Given the description of an element on the screen output the (x, y) to click on. 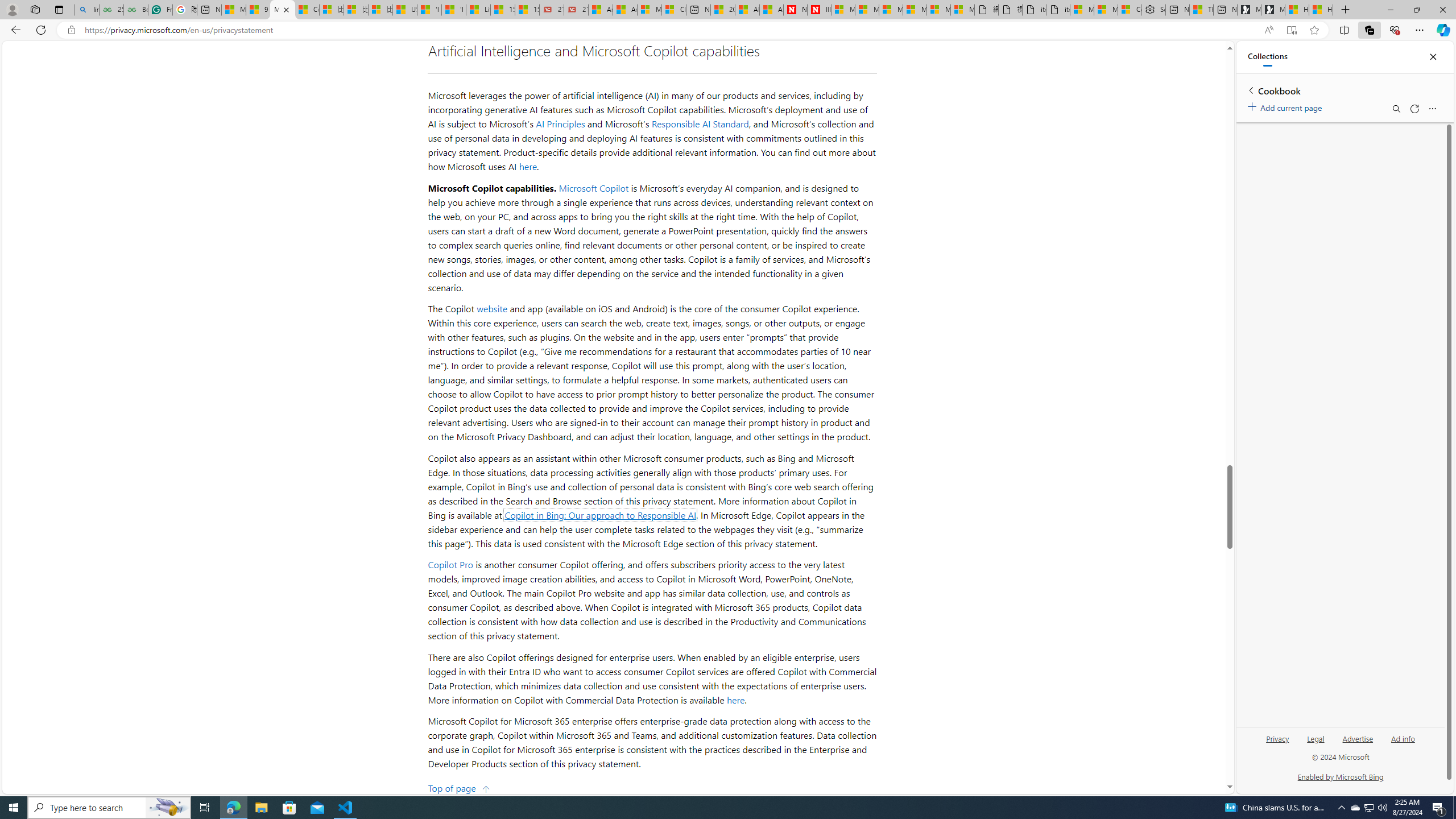
Free AI Writing Assistance for Students | Grammarly (159, 9)
20 Ways to Boost Your Protein Intake at Every Meal (722, 9)
Copilot Pro (450, 564)
Newsweek - News, Analysis, Politics, Business, Technology (795, 9)
More options menu (1432, 108)
AI Principles (560, 123)
Cloud Computing Services | Microsoft Azure (673, 9)
Best SSL Certificates Provider in India - GeeksforGeeks (135, 9)
